Given the description of an element on the screen output the (x, y) to click on. 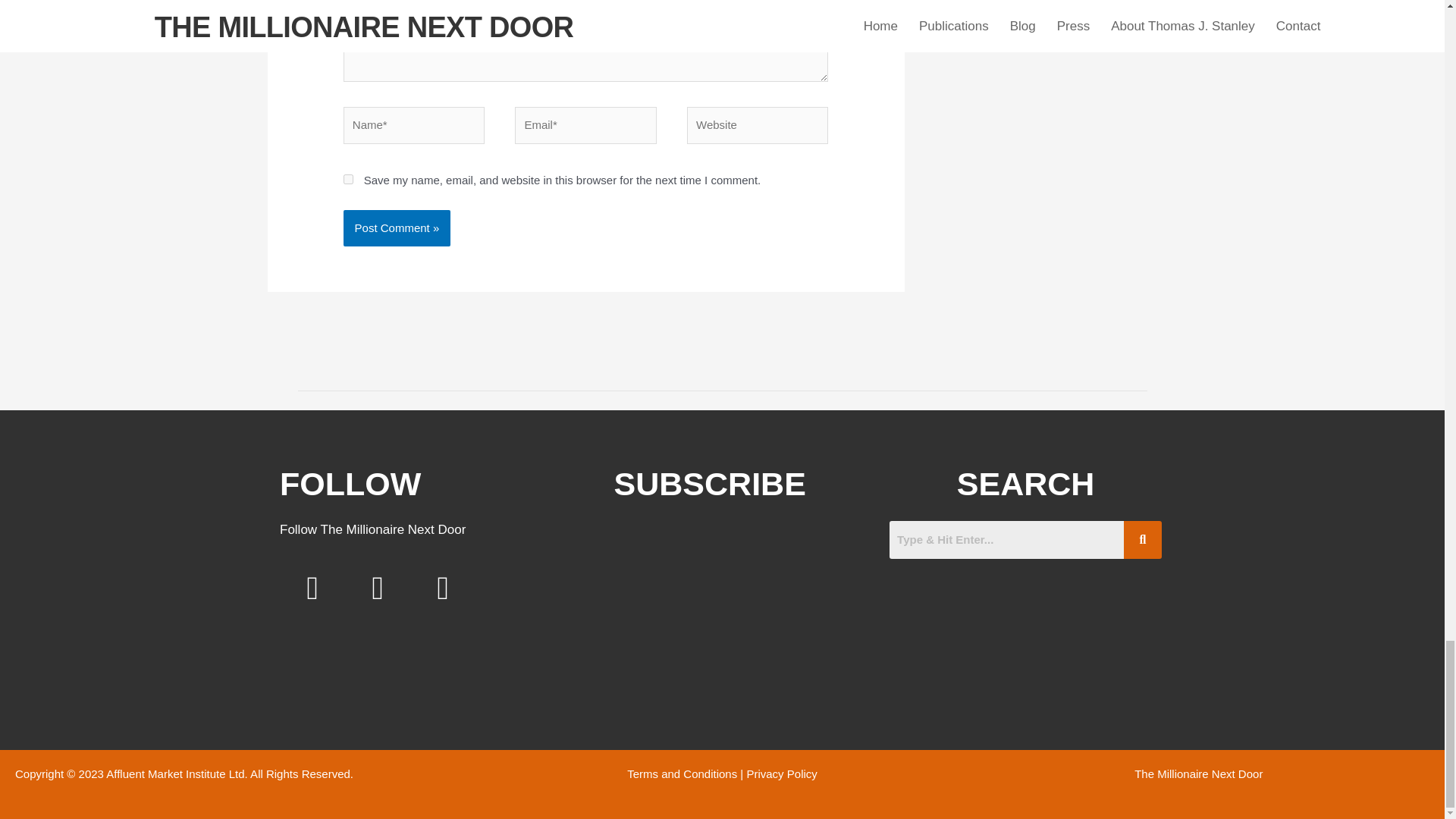
Form 0 (709, 608)
Search (1006, 539)
yes (348, 179)
